Given the description of an element on the screen output the (x, y) to click on. 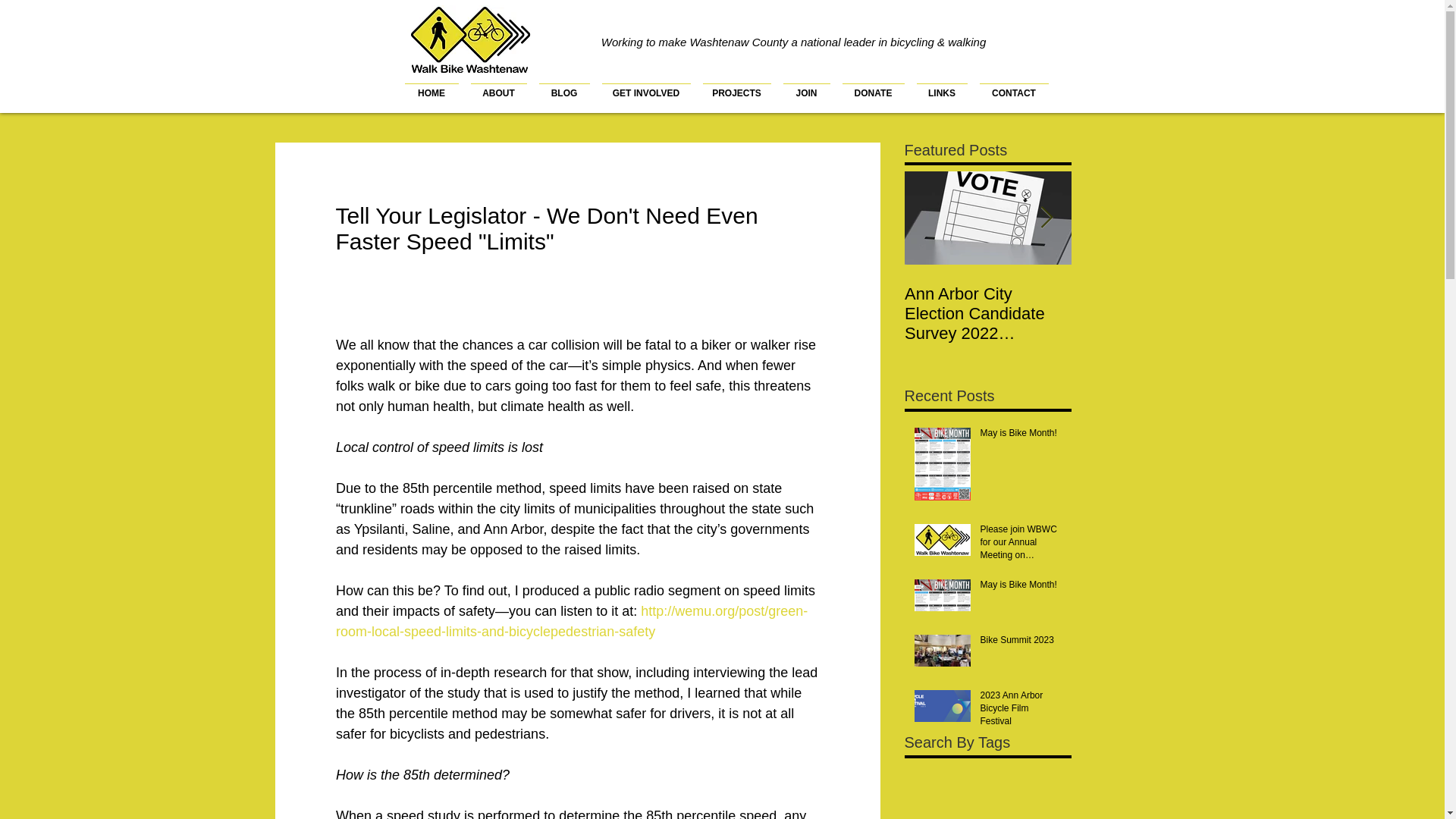
DONATE (872, 86)
BLOG (563, 86)
LINKS (941, 86)
Ann Arbor City Election Candidate Survey 2022 Responses (987, 313)
GET INVOLVED (646, 86)
CONTACT (1014, 86)
Notice of Special WBWC Membership Meeting (1153, 313)
PROJECTS (735, 86)
HOME (431, 86)
JOIN (805, 86)
ABOUT (498, 86)
